Given the description of an element on the screen output the (x, y) to click on. 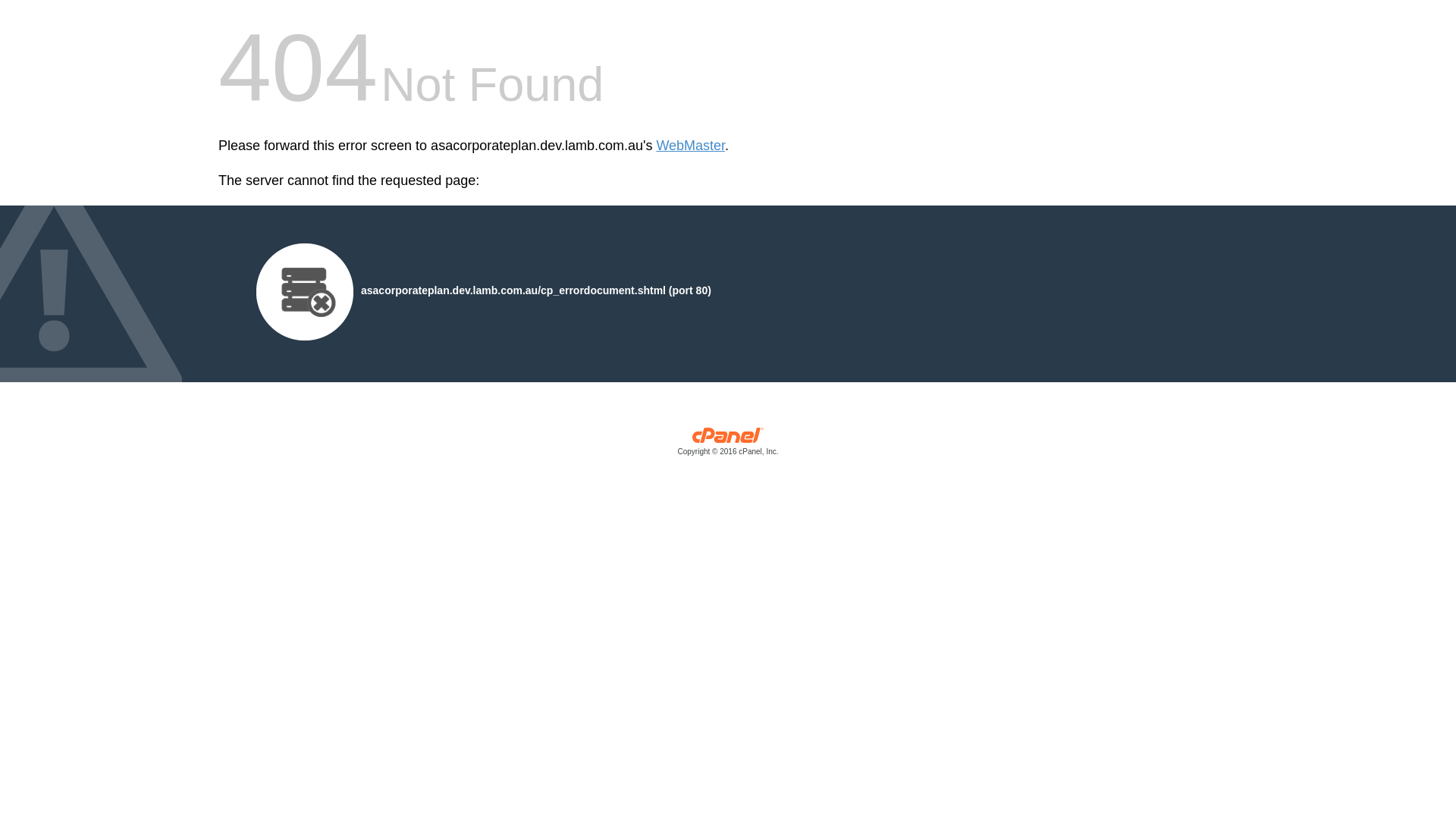
WebMaster Element type: text (689, 145)
